Given the description of an element on the screen output the (x, y) to click on. 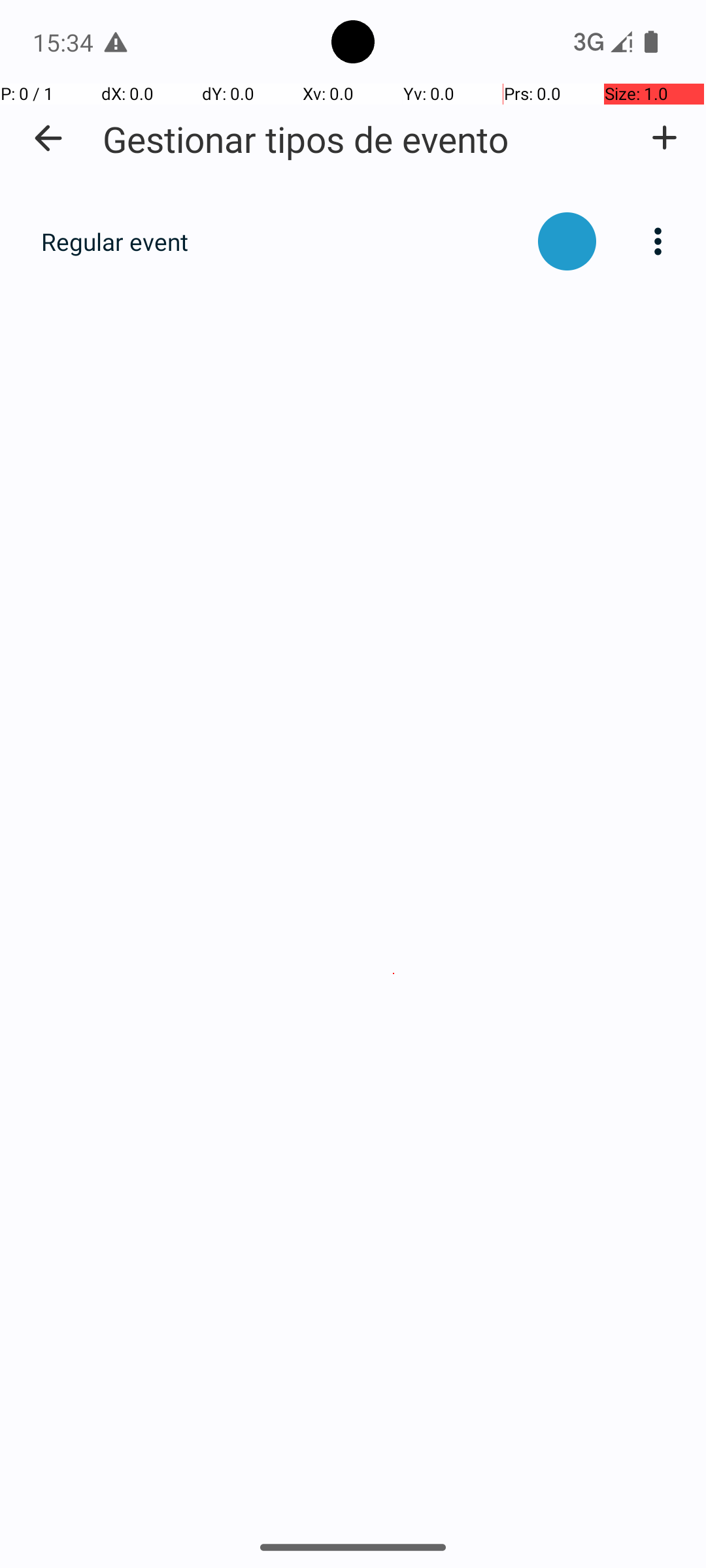
Gestionar tipos de evento Element type: android.widget.TextView (305, 138)
Agregar un nuevo tipo de evento Element type: android.widget.Button (664, 137)
Regular event Element type: android.widget.TextView (282, 241)
